Given the description of an element on the screen output the (x, y) to click on. 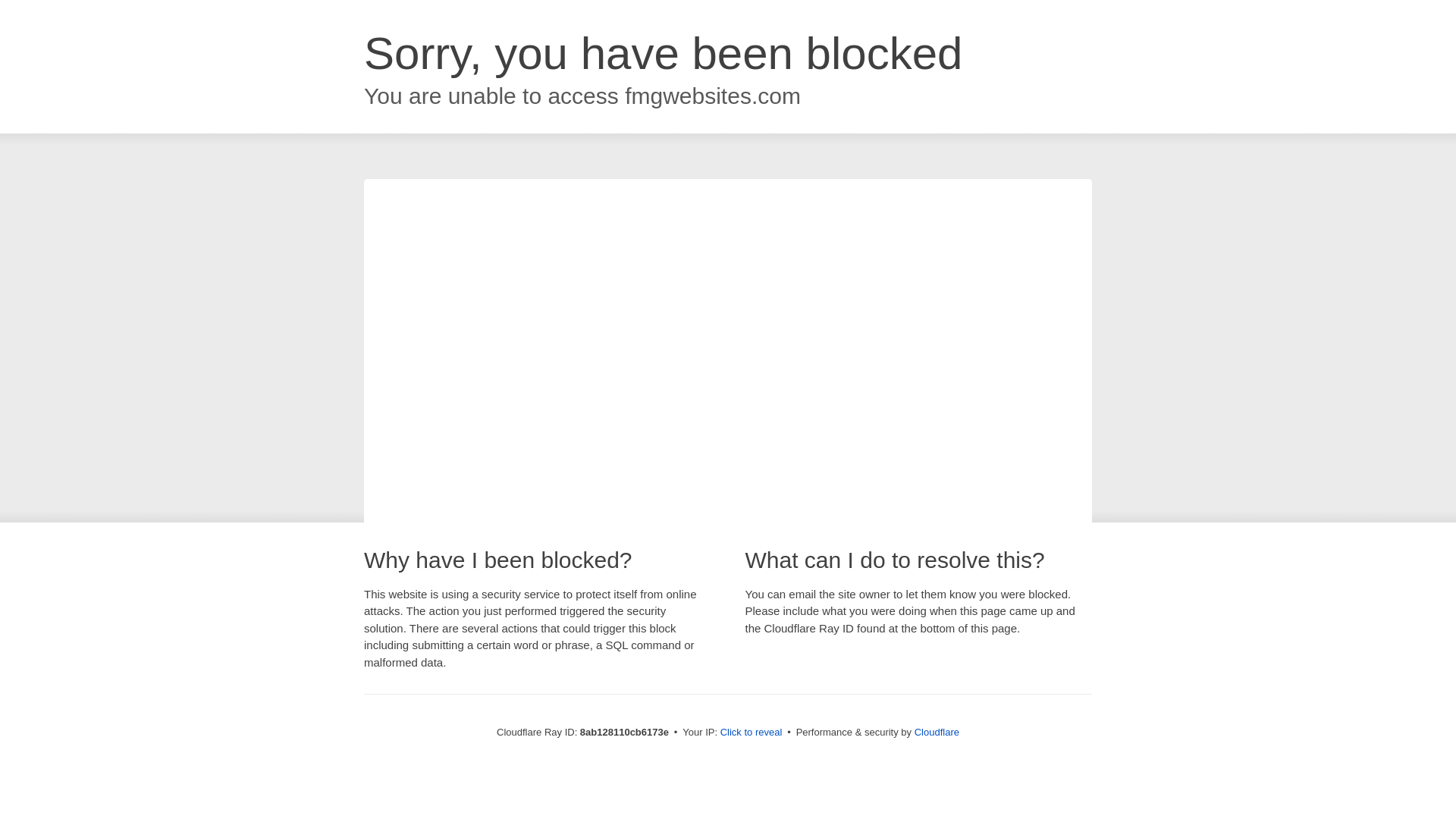
Click to reveal (751, 732)
Cloudflare (936, 731)
